Given the description of an element on the screen output the (x, y) to click on. 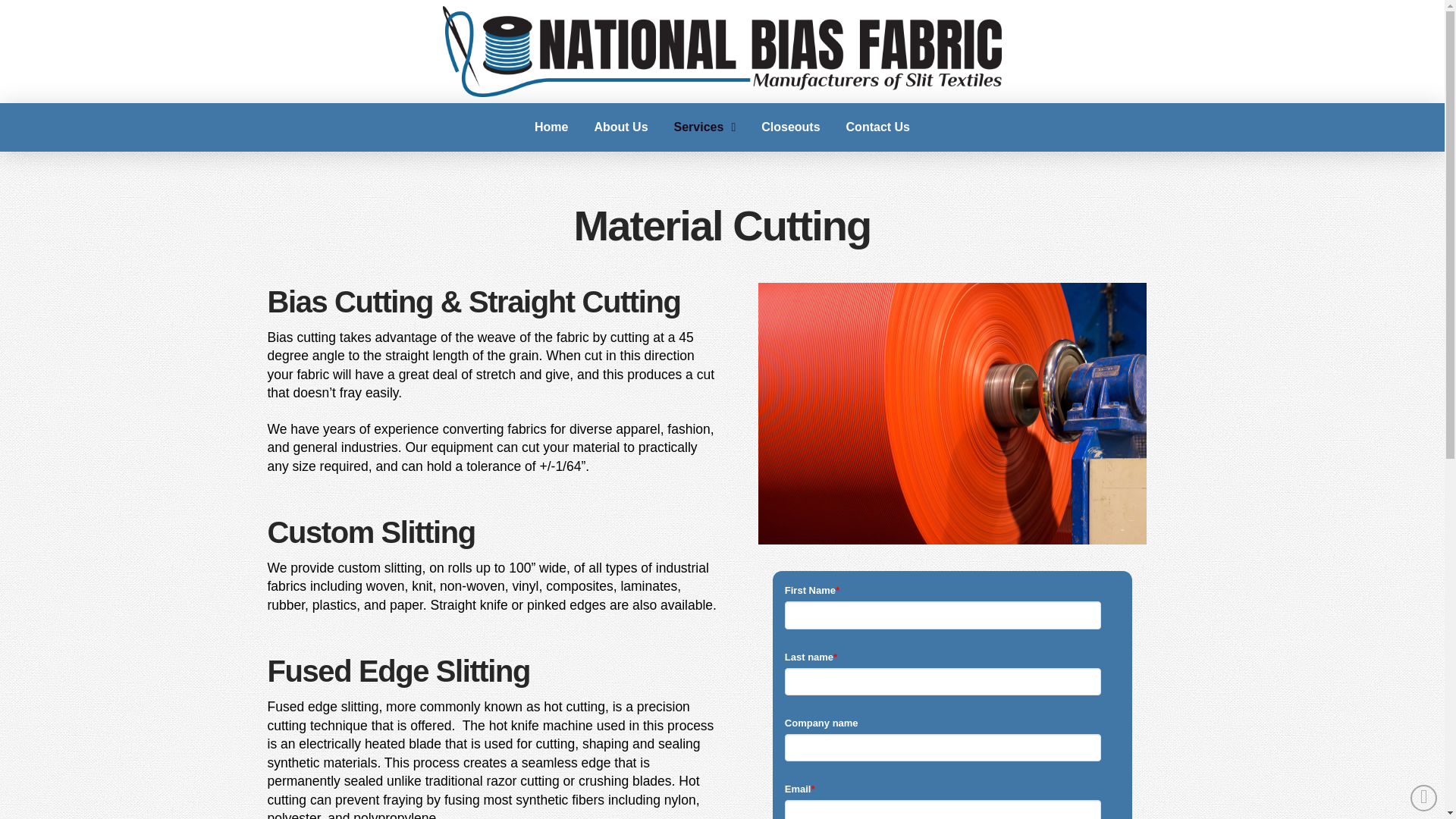
Back to Top (1423, 797)
About Us (620, 127)
Closeouts (790, 127)
Services (705, 127)
Home (550, 127)
Contact Us (877, 127)
